Given the description of an element on the screen output the (x, y) to click on. 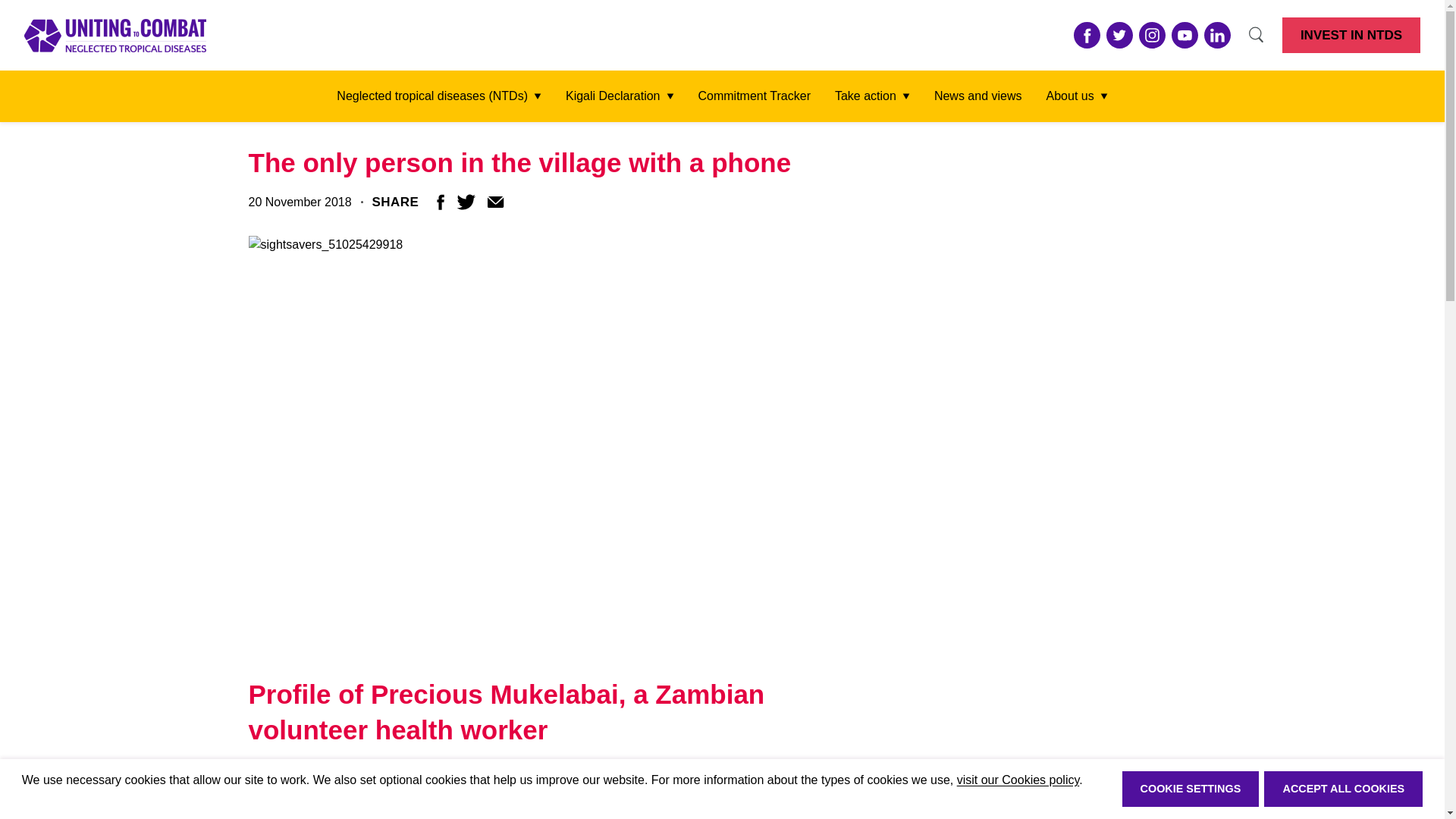
INVEST IN NTDS (1351, 35)
Commitment Tracker (753, 95)
visit our Cookies policy (1018, 779)
About us (1077, 96)
Take action (872, 96)
ACCEPT ALL COOKIES (1342, 788)
COOKIE SETTINGS (1190, 788)
News and views (978, 95)
Kigali Declaration (620, 96)
